Given the description of an element on the screen output the (x, y) to click on. 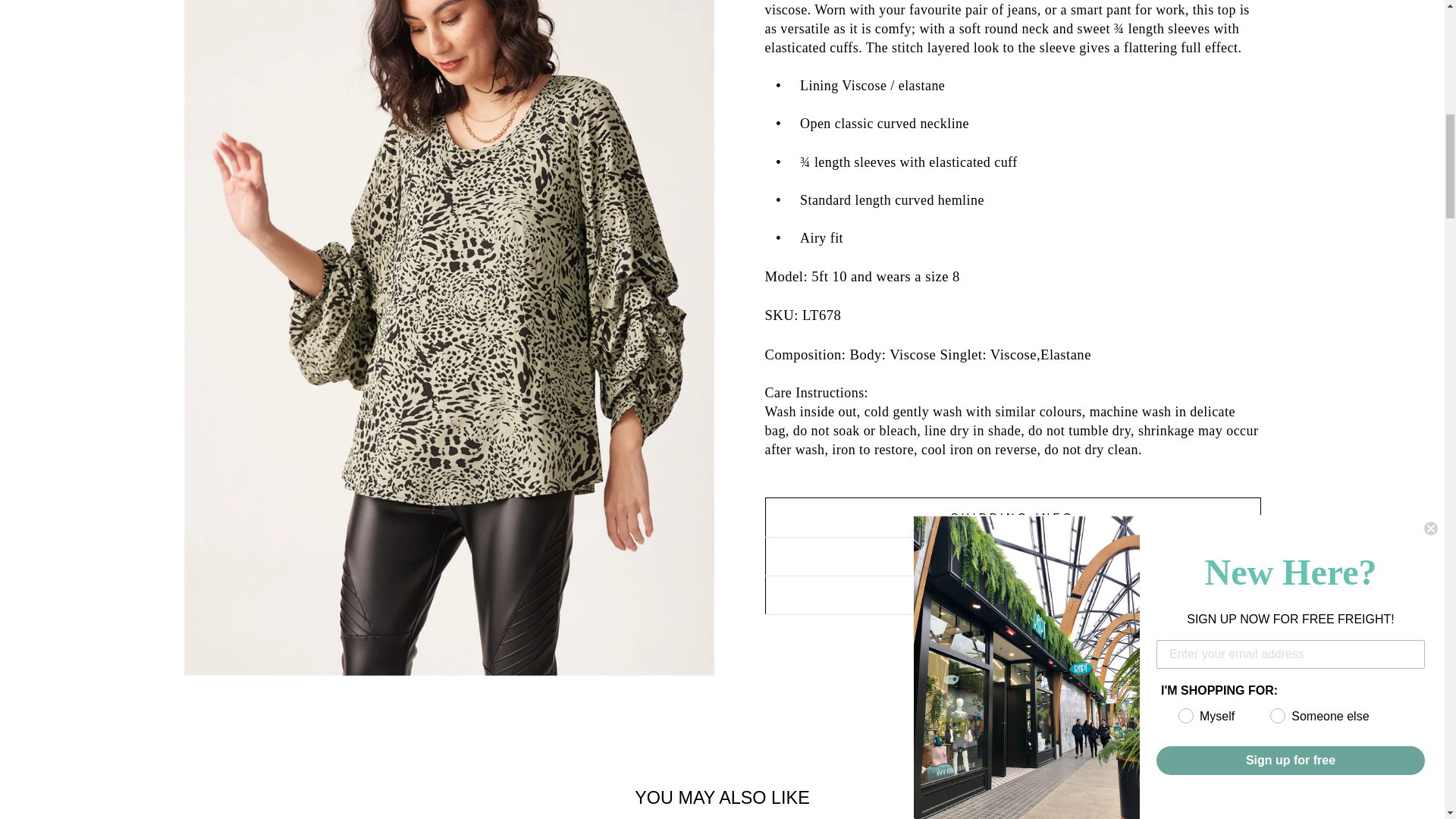
Share on Facebook (976, 647)
Pin on Pinterest (1051, 647)
